Given the description of an element on the screen output the (x, y) to click on. 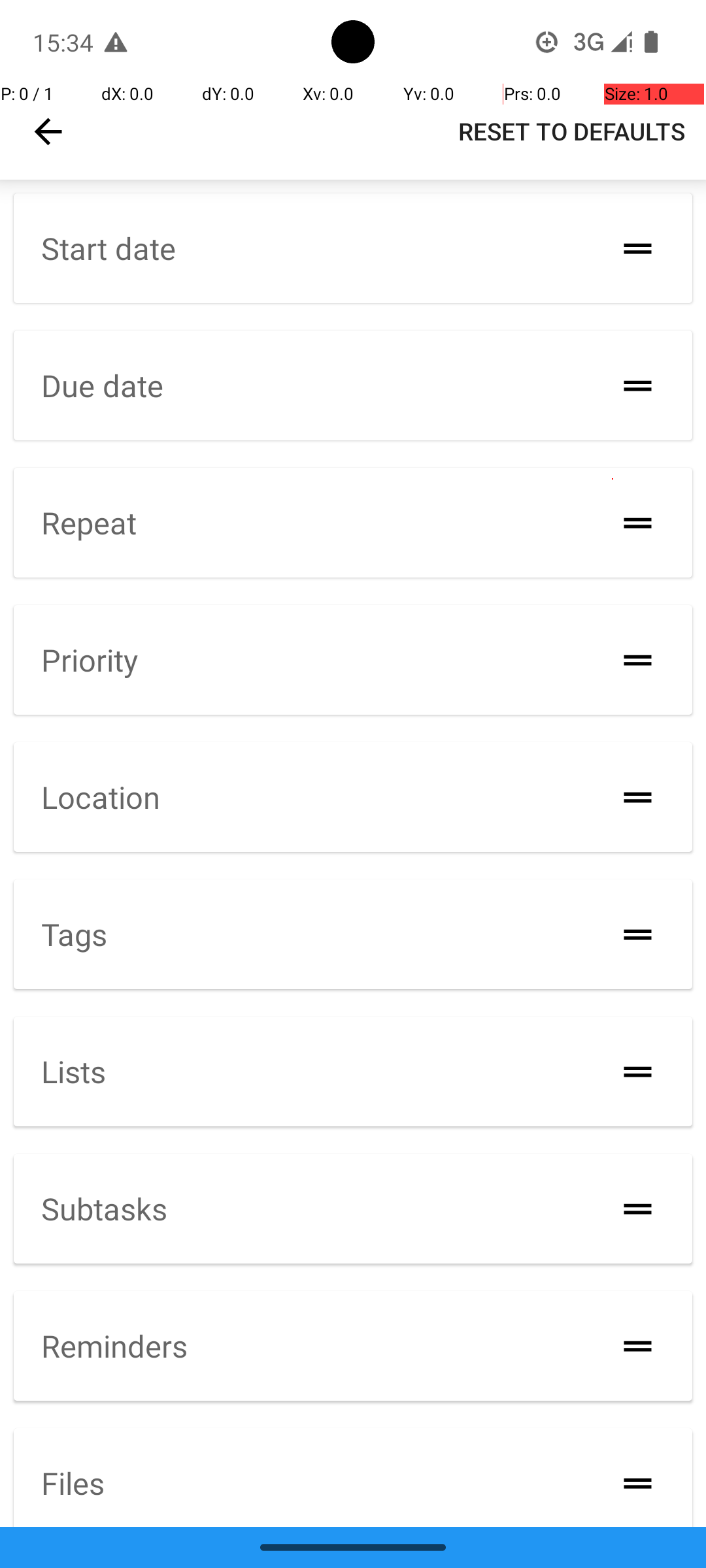
RESET TO DEFAULTS Element type: android.widget.Button (571, 131)
Start date Element type: android.widget.TextView (108, 247)
Due date Element type: android.widget.TextView (102, 384)
Repeat Element type: android.widget.TextView (88, 521)
Tags Element type: android.widget.TextView (74, 933)
Lists Element type: android.widget.TextView (73, 1070)
Subtasks Element type: android.widget.TextView (104, 1207)
Reminders Element type: android.widget.TextView (114, 1345)
